Given the description of an element on the screen output the (x, y) to click on. 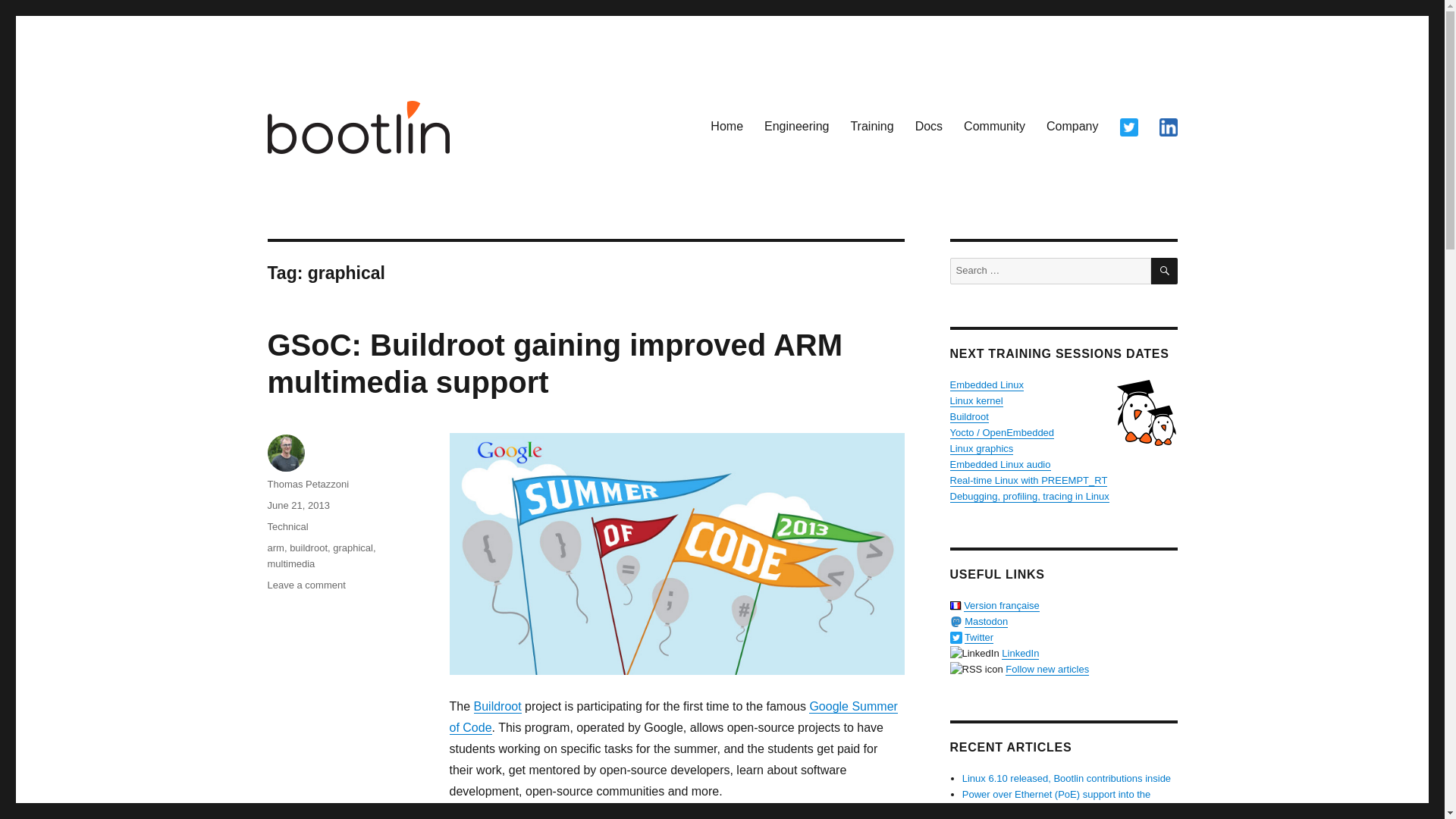
Thomas Petazzoni (307, 483)
Buildroot (497, 706)
buildroot (308, 547)
graphical (352, 547)
Technical (286, 526)
June 21, 2013 (297, 505)
Community (994, 126)
Company (1071, 126)
Engineering (797, 126)
Training (872, 126)
multimedia (290, 563)
Home (727, 126)
GSoC: Buildroot gaining improved ARM multimedia support (553, 363)
arm (274, 547)
